Given the description of an element on the screen output the (x, y) to click on. 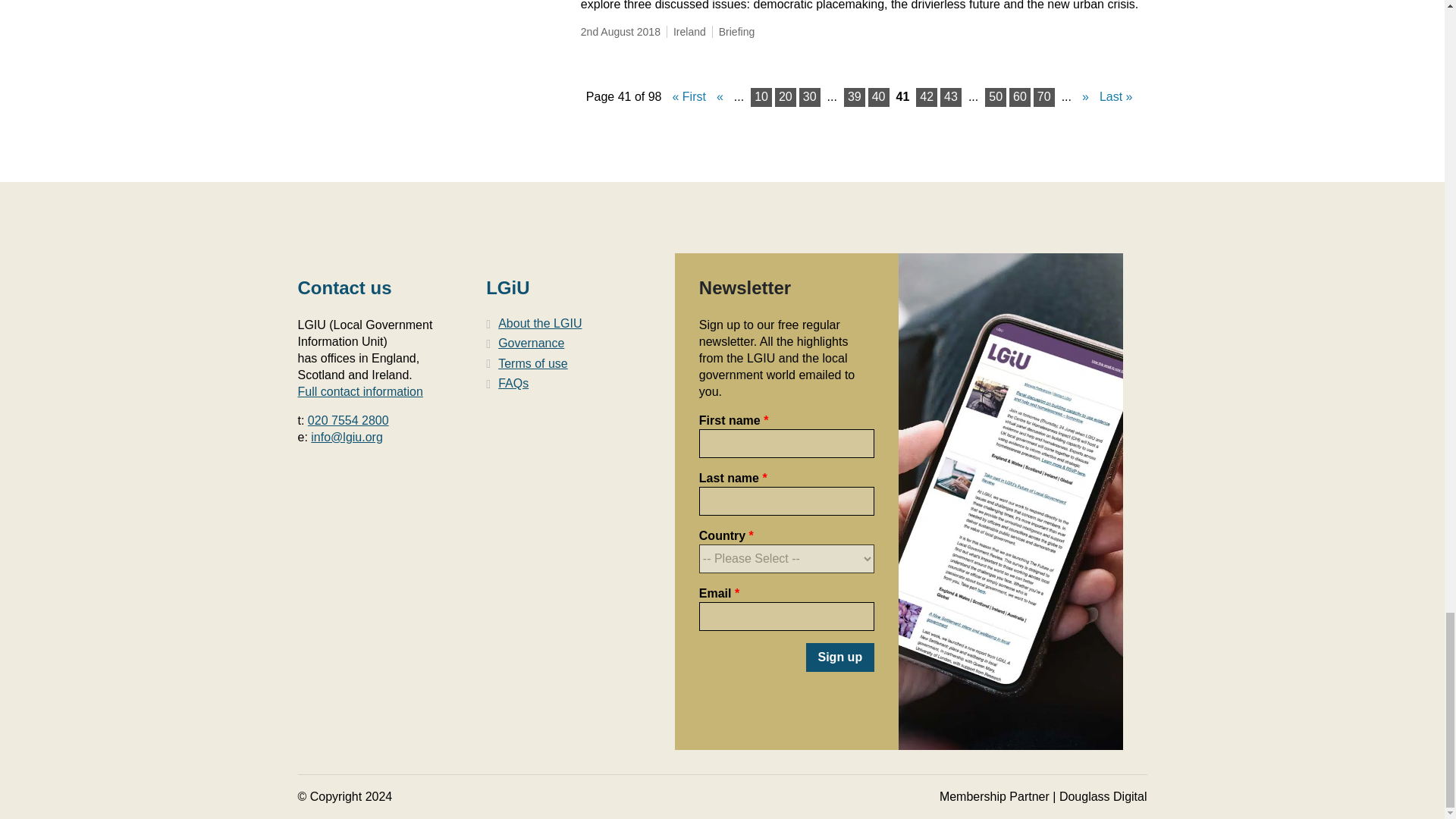
Page 39 (854, 96)
Sign up (840, 656)
Page 40 (878, 96)
Page 30 (810, 96)
Page 20 (785, 96)
Page 10 (761, 96)
